Given the description of an element on the screen output the (x, y) to click on. 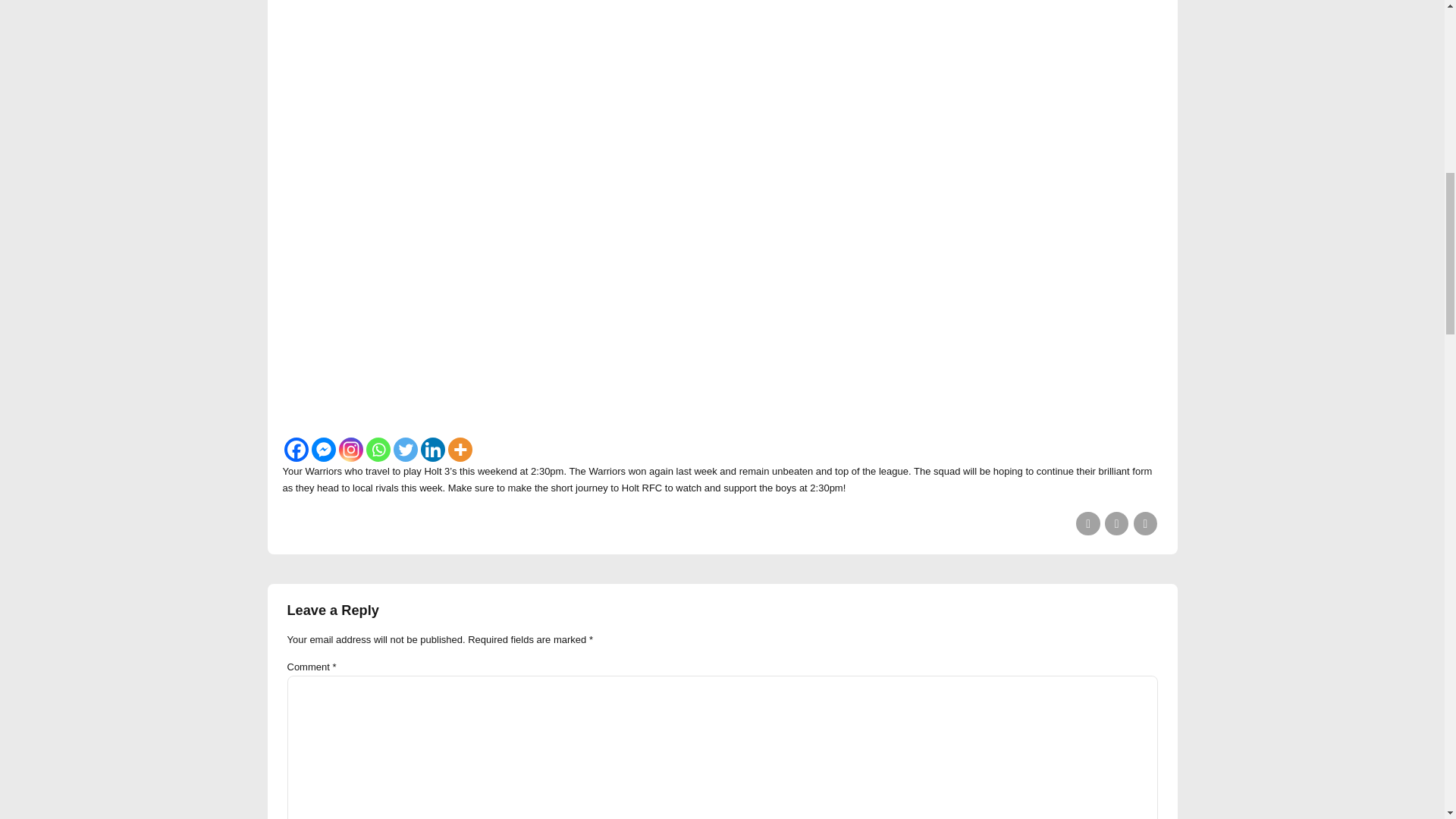
Twitter (404, 449)
Share on Facebook (1087, 523)
Linkedin (432, 449)
Instagram (349, 449)
Whatsapp (377, 449)
Facebook (295, 449)
More (458, 449)
